Given the description of an element on the screen output the (x, y) to click on. 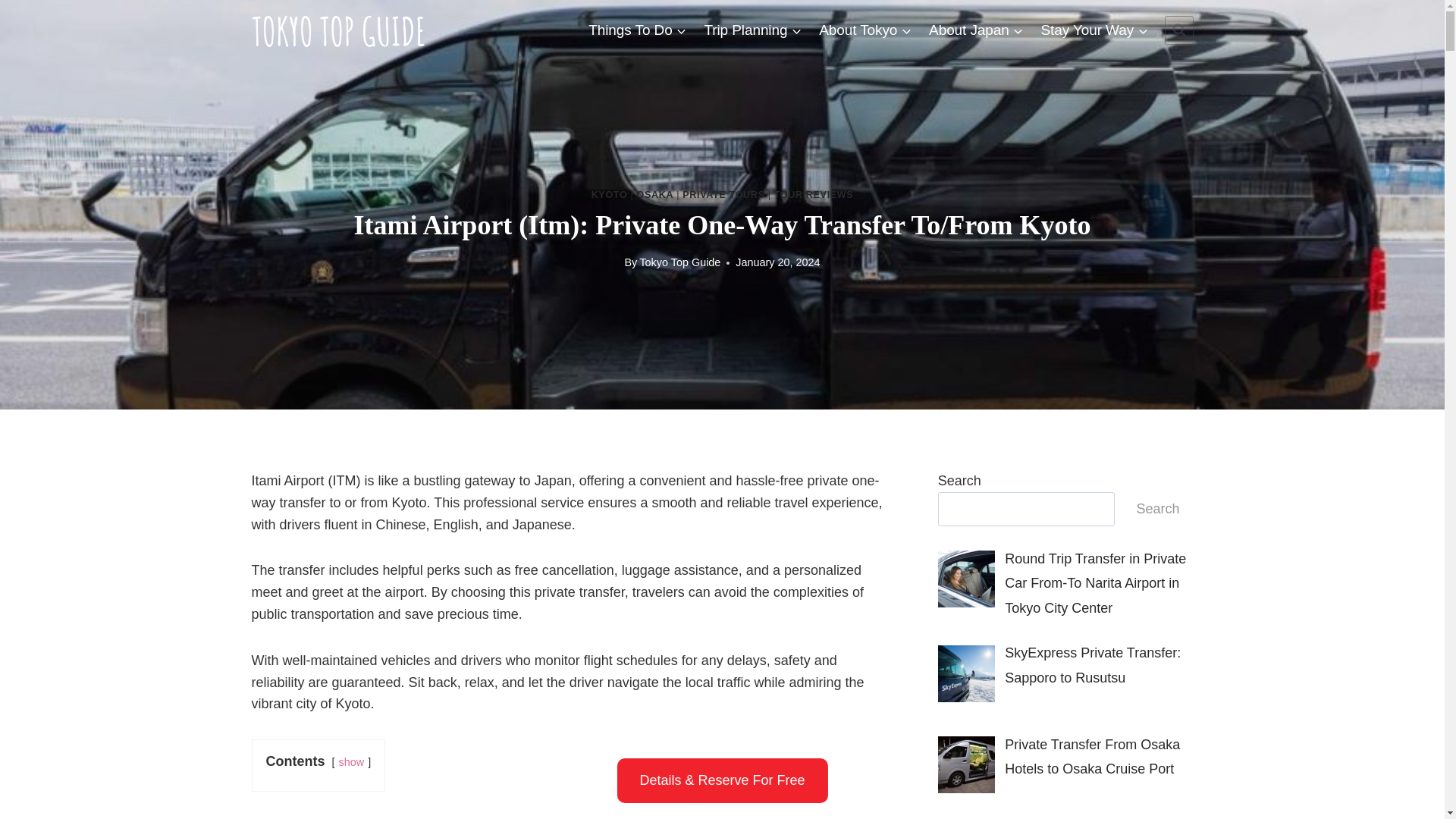
About Japan (976, 29)
Stay Your Way (1094, 29)
TOUR REVIEWS (813, 194)
About Tokyo (865, 29)
OSAKA (655, 194)
PRIVATE TOURS (723, 194)
Trip Planning (752, 29)
KYOTO (609, 194)
Things To Do (637, 29)
